Given the description of an element on the screen output the (x, y) to click on. 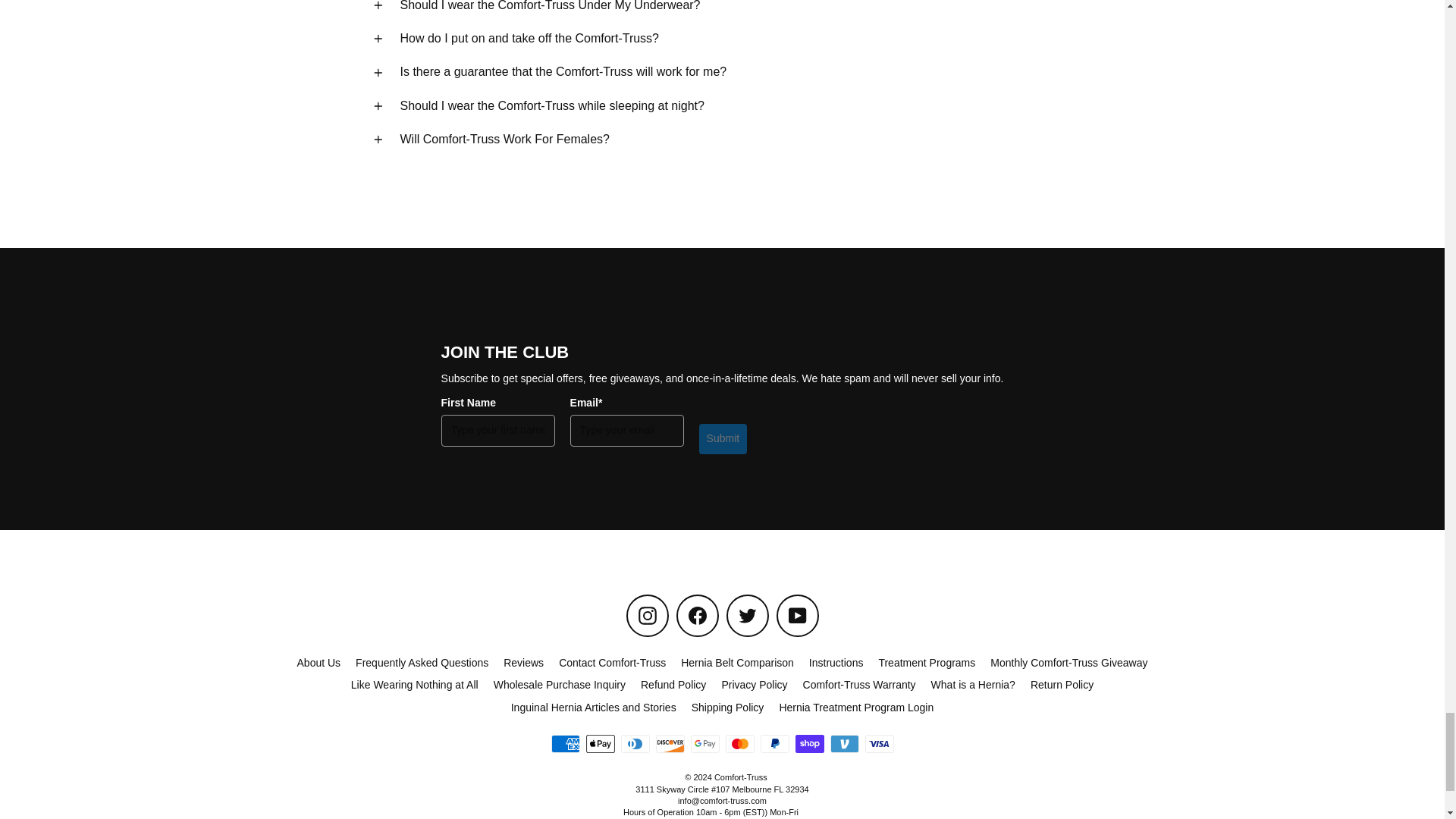
Comfort-Truss on Twitter (747, 615)
Comfort-Truss on Instagram (647, 615)
Comfort-Truss on Facebook (698, 615)
Comfort-Truss on YouTube (797, 615)
